Given the description of an element on the screen output the (x, y) to click on. 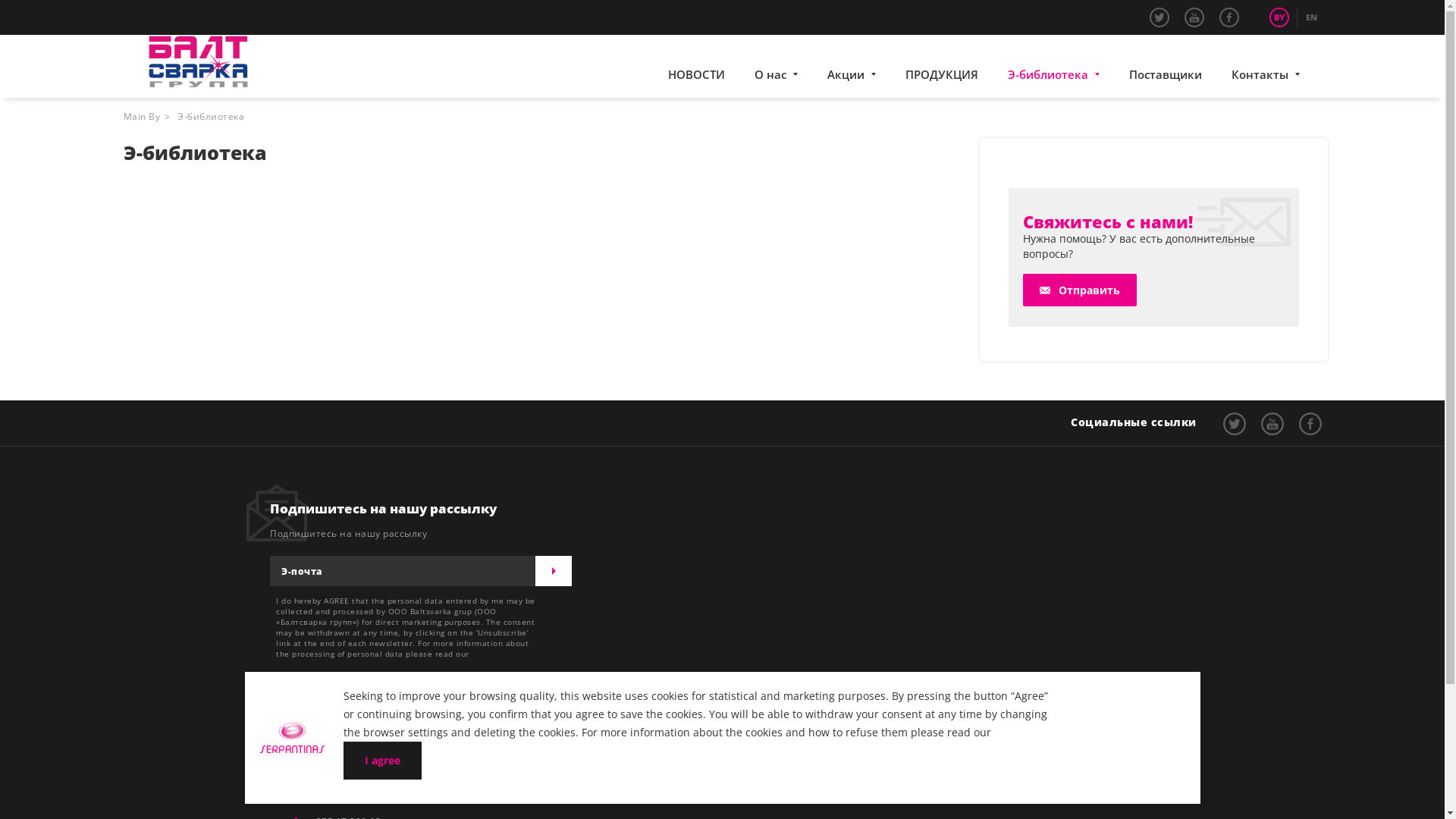
BY Element type: text (1279, 17)
EN Element type: text (1311, 17)
info@baltsvarka.com Element type: text (495, 721)
Main By Element type: text (141, 115)
I agree Element type: text (381, 760)
